Given the description of an element on the screen output the (x, y) to click on. 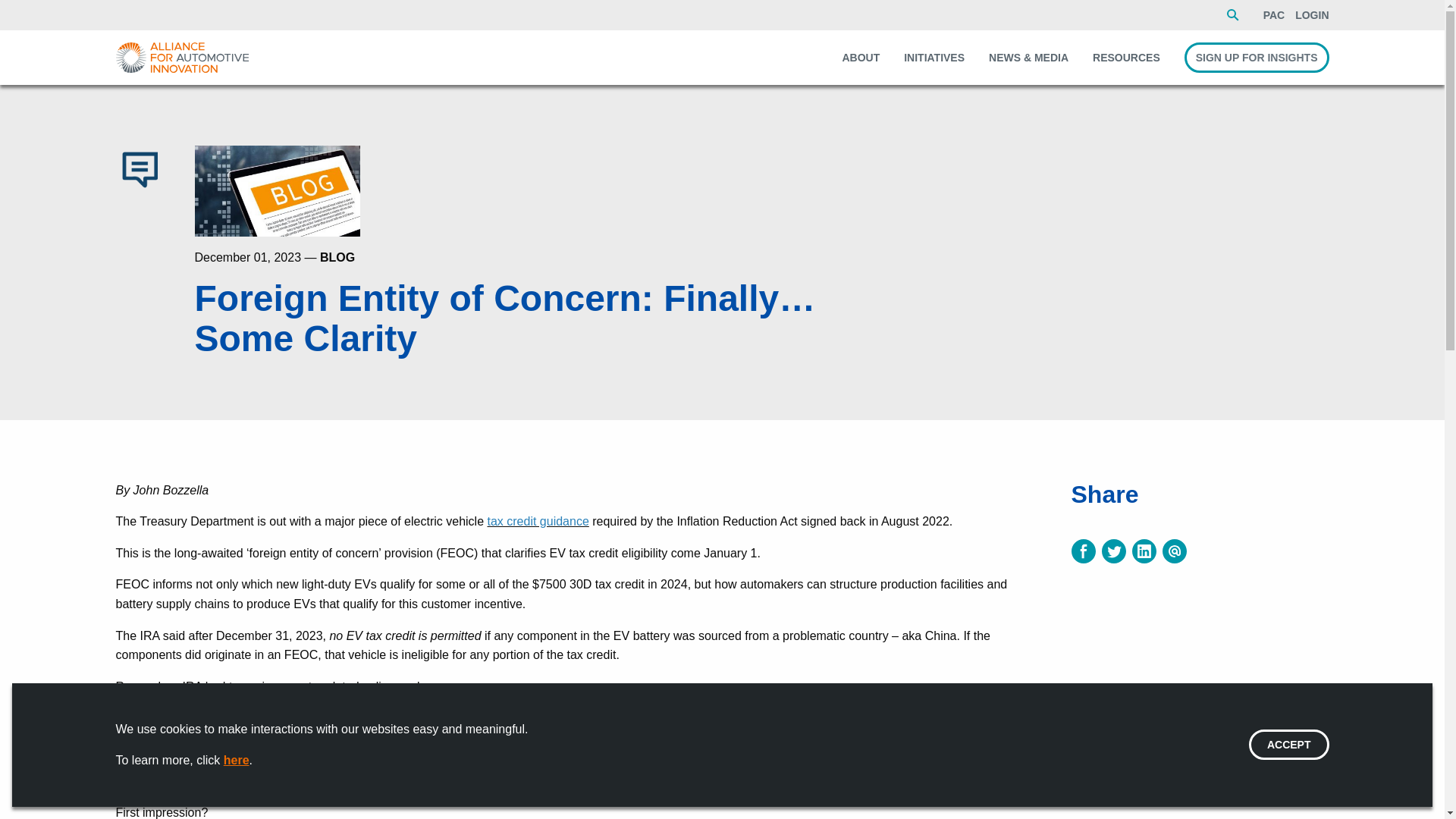
LOGIN (1311, 14)
PAC (1274, 14)
SEARCH (1232, 14)
